Given the description of an element on the screen output the (x, y) to click on. 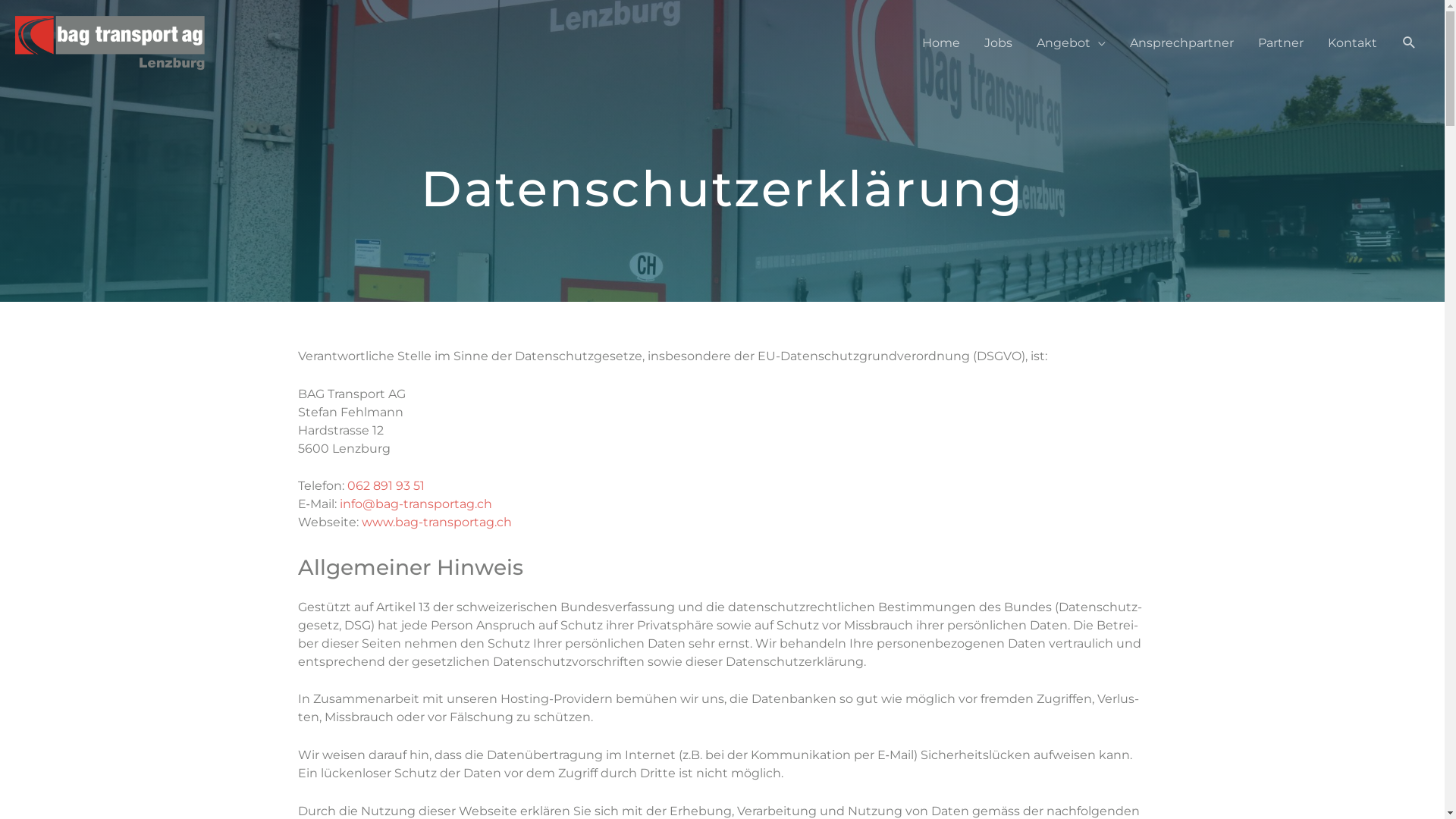
info@bag-transportag.ch Element type: text (415, 503)
062 891 93 51 Element type: text (385, 485)
Jobs Element type: text (998, 42)
Home Element type: text (941, 42)
Suche Element type: text (1409, 42)
www.bag-transportag.ch Element type: text (435, 521)
